Given the description of an element on the screen output the (x, y) to click on. 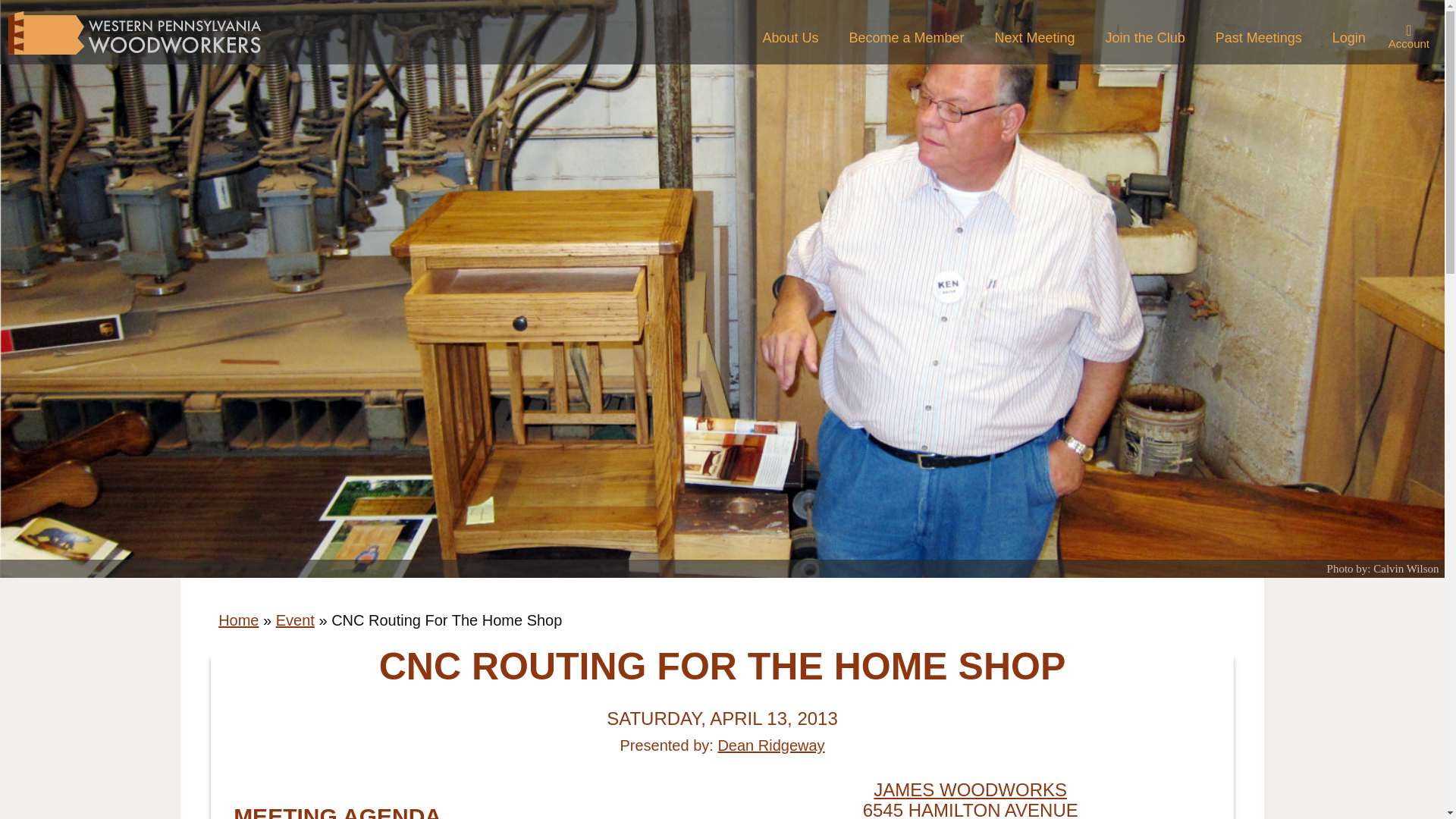
Dean Ridgeway (770, 745)
JAMES WOODWORKS (970, 789)
Home (238, 619)
Event (295, 619)
Login (1348, 38)
About Us (789, 38)
Account (1408, 35)
Join the Club (1144, 38)
Next Meeting (1034, 38)
Past Meetings (1258, 38)
Become a Member (905, 38)
